Given the description of an element on the screen output the (x, y) to click on. 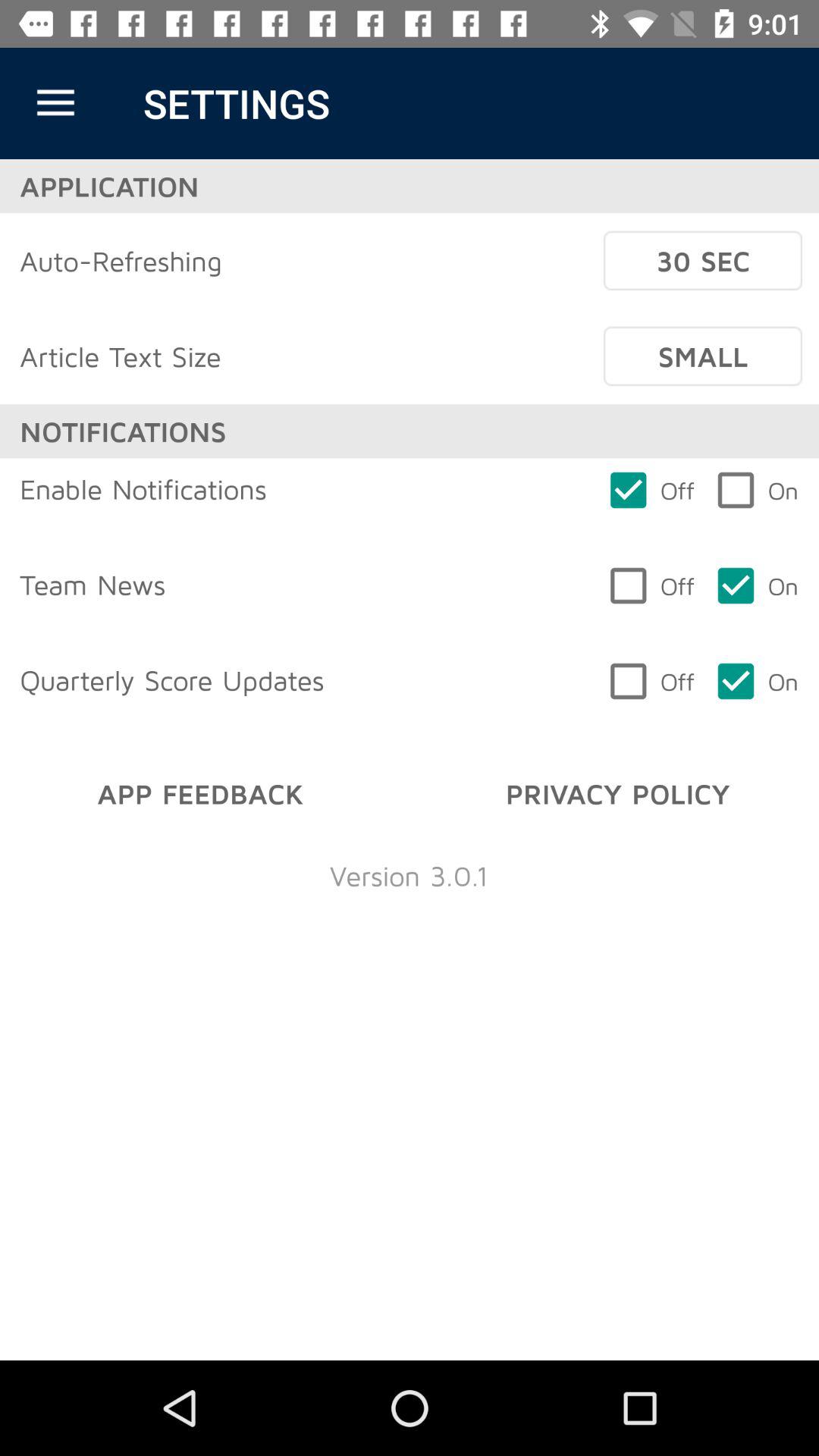
select icon next to the settings (55, 103)
